Given the description of an element on the screen output the (x, y) to click on. 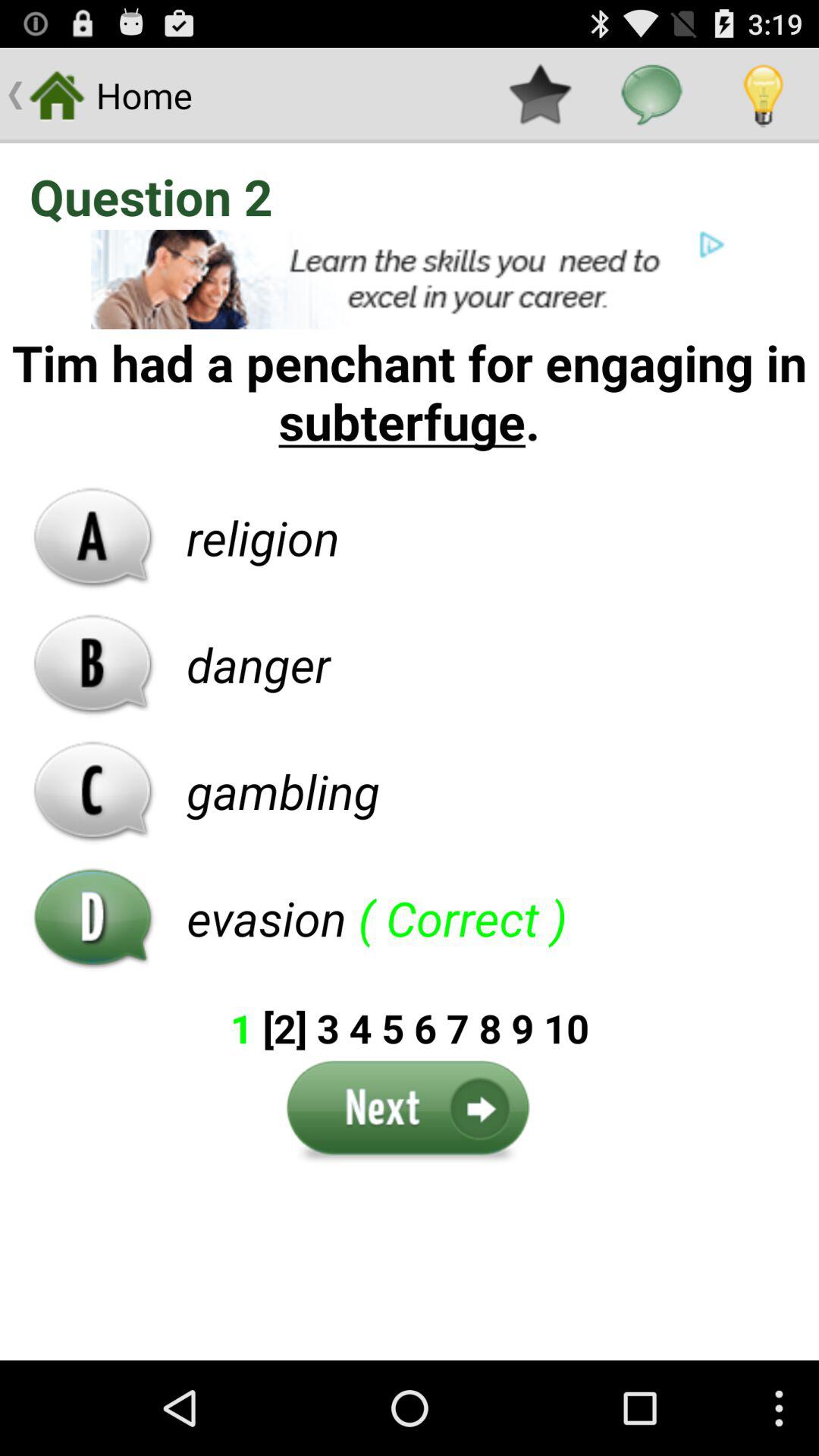
click for advertisement (409, 279)
